Given the description of an element on the screen output the (x, y) to click on. 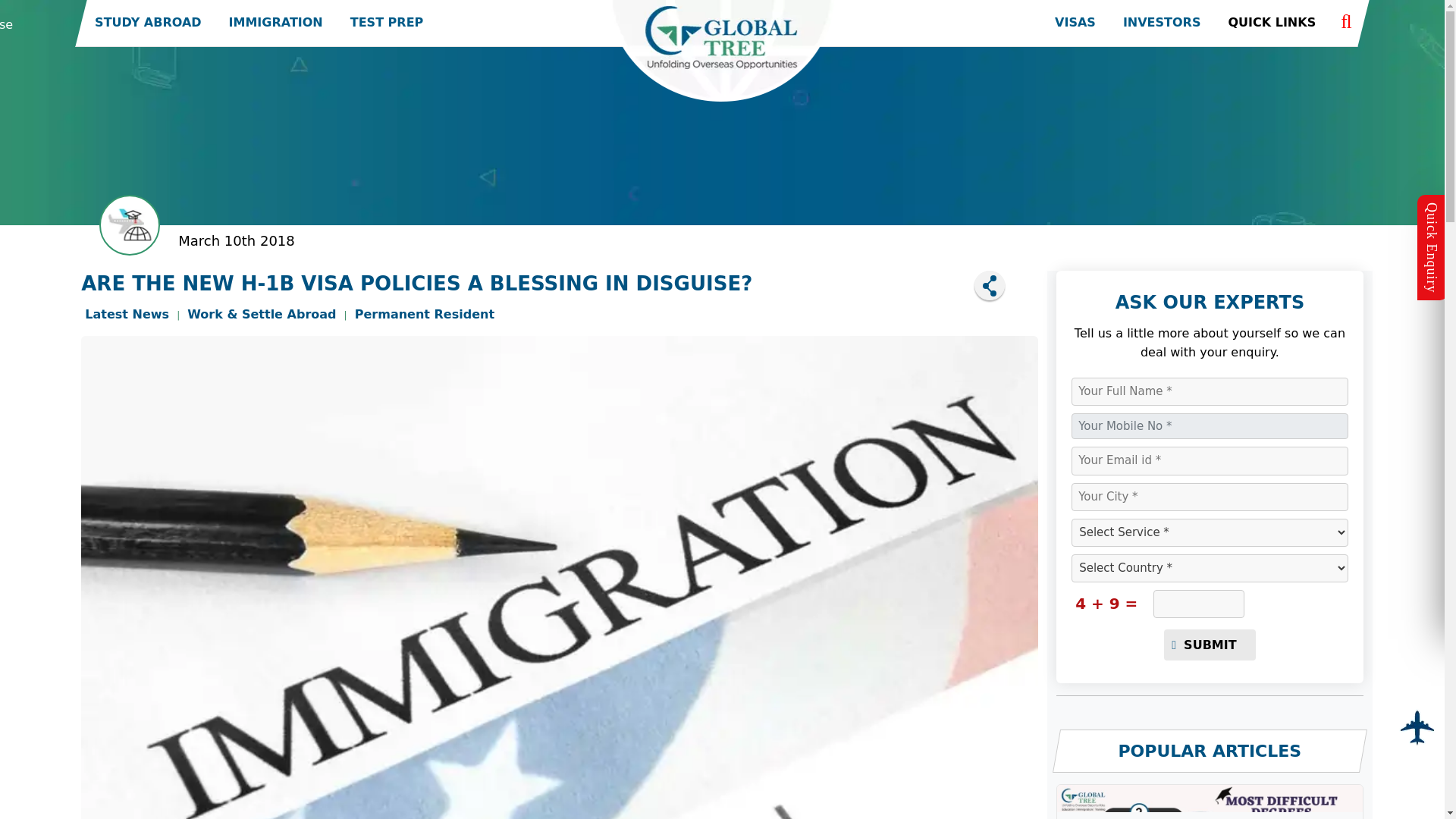
STUDY ABROAD (147, 22)
VISAS (1075, 22)
INVESTORS (1161, 22)
IMMIGRATION (275, 22)
TEST PREP (387, 22)
